Given the description of an element on the screen output the (x, y) to click on. 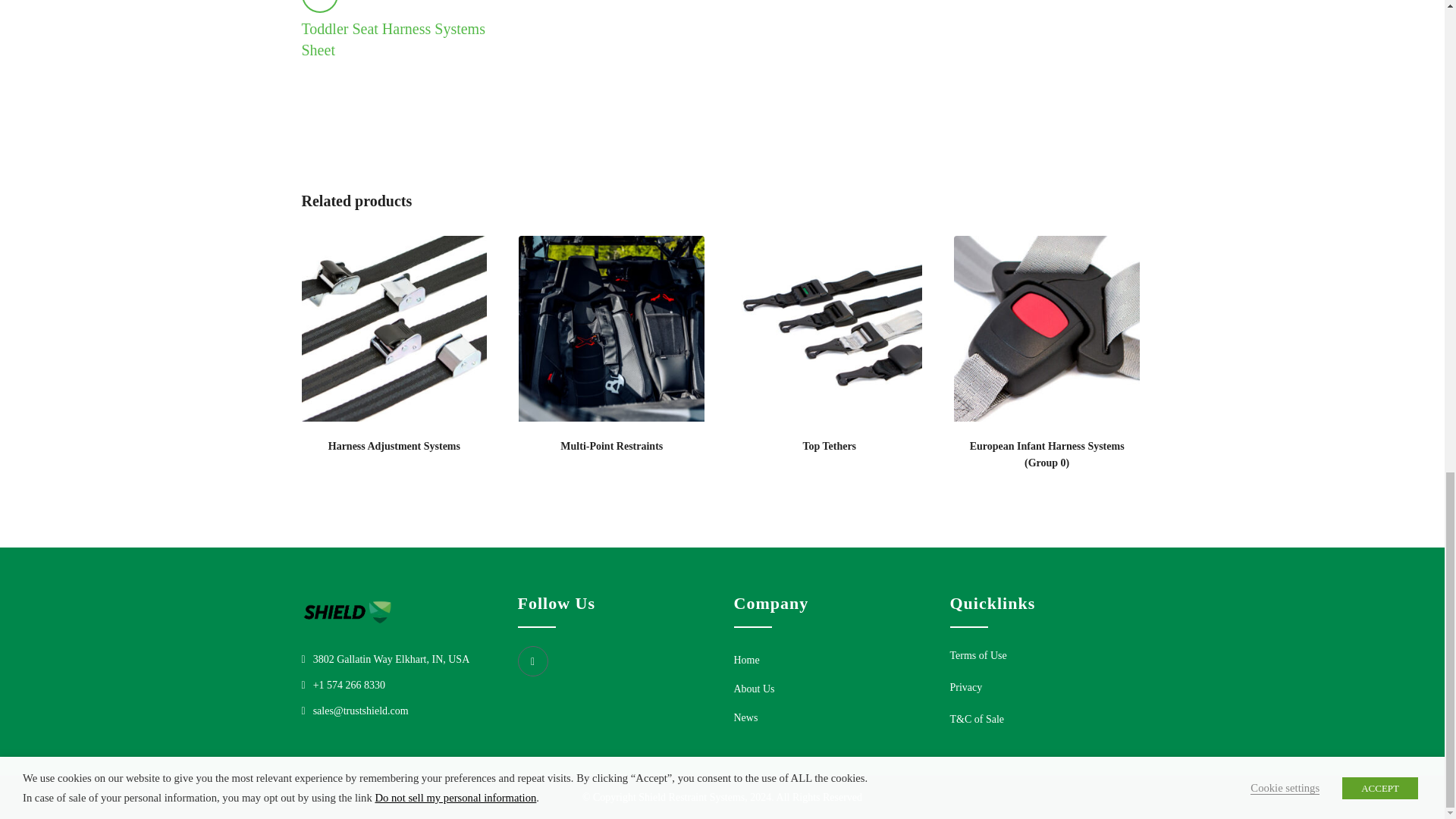
Product Data Sheet (319, 5)
